Given the description of an element on the screen output the (x, y) to click on. 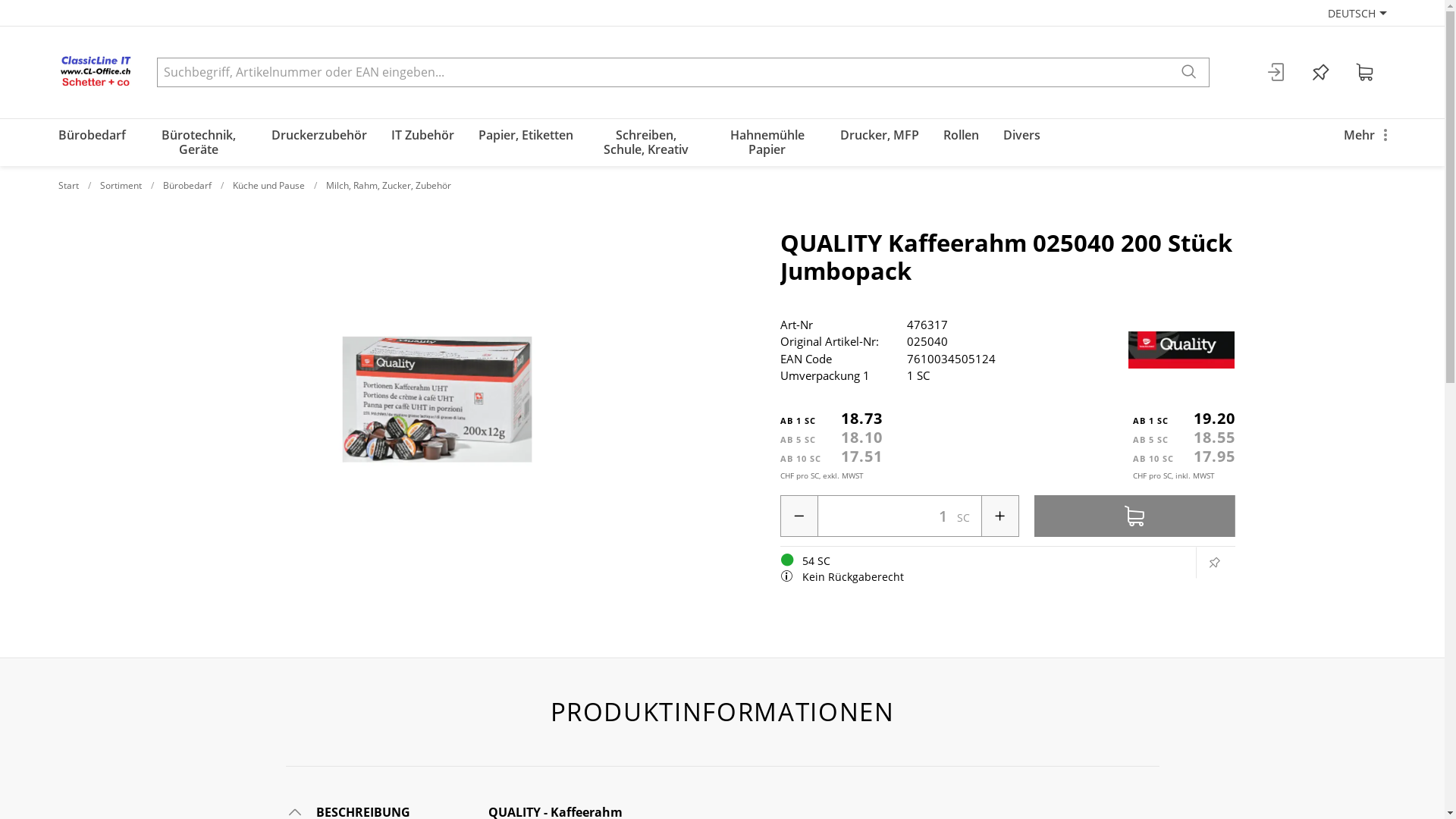
Merkliste Element type: hover (1320, 72)
QUALITY Element type: hover (1181, 349)
Rollen Element type: text (961, 142)
Menge reduzieren Element type: hover (799, 515)
Drucker, MFP Element type: text (879, 142)
Schreiben, Schule, Kreativ Element type: text (645, 142)
Divers Element type: text (1020, 142)
Anmelden Element type: hover (1276, 72)
Sortiment Element type: text (120, 184)
Warenkorb Element type: hover (1364, 72)
Start Element type: text (67, 184)
54 SC  Element type: hover (785, 560)
Papier, Etiketten Element type: text (524, 142)
Mehr Element type: text (1365, 142)
In Warenkorb legen Element type: hover (1134, 515)
